Given the description of an element on the screen output the (x, y) to click on. 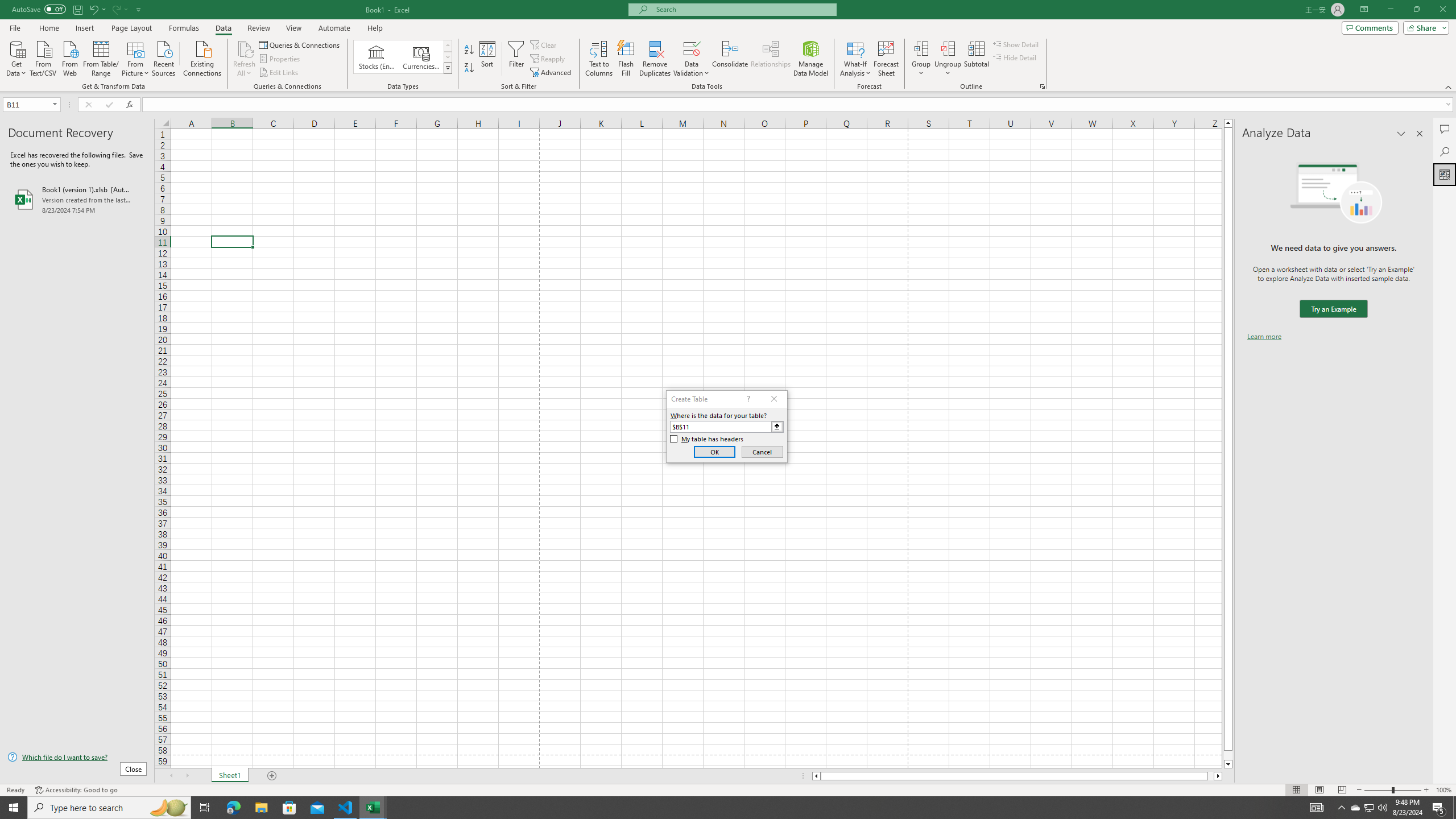
Consolidate... (729, 58)
